Given the description of an element on the screen output the (x, y) to click on. 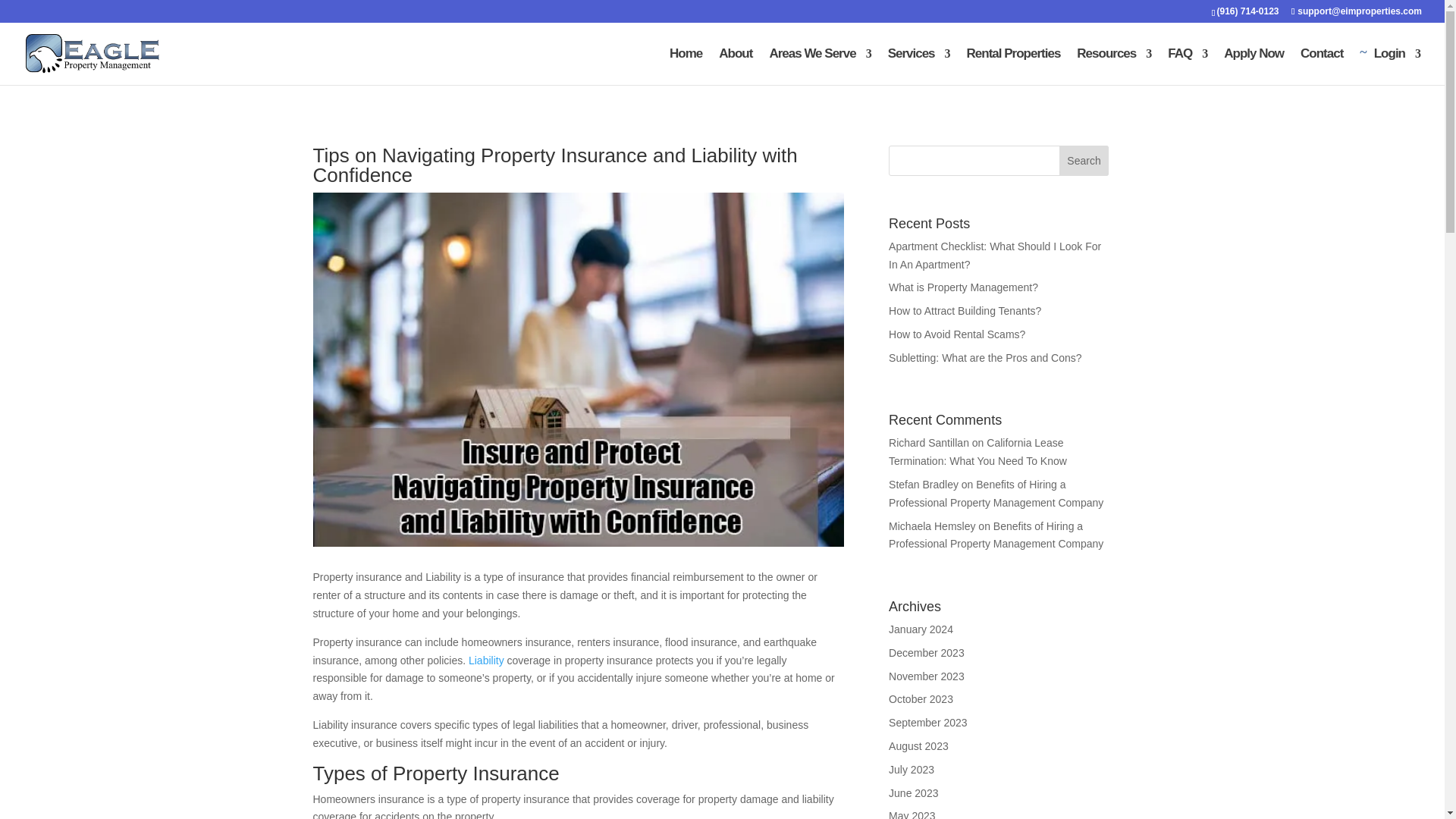
Areas We Serve (819, 66)
Search (1084, 160)
FAQ (1187, 66)
Contact (1321, 66)
Rental Properties (1013, 66)
Services (919, 66)
Login (1390, 66)
Resources (1114, 66)
Apply Now (1254, 66)
Home (685, 66)
About (735, 66)
